Given the description of an element on the screen output the (x, y) to click on. 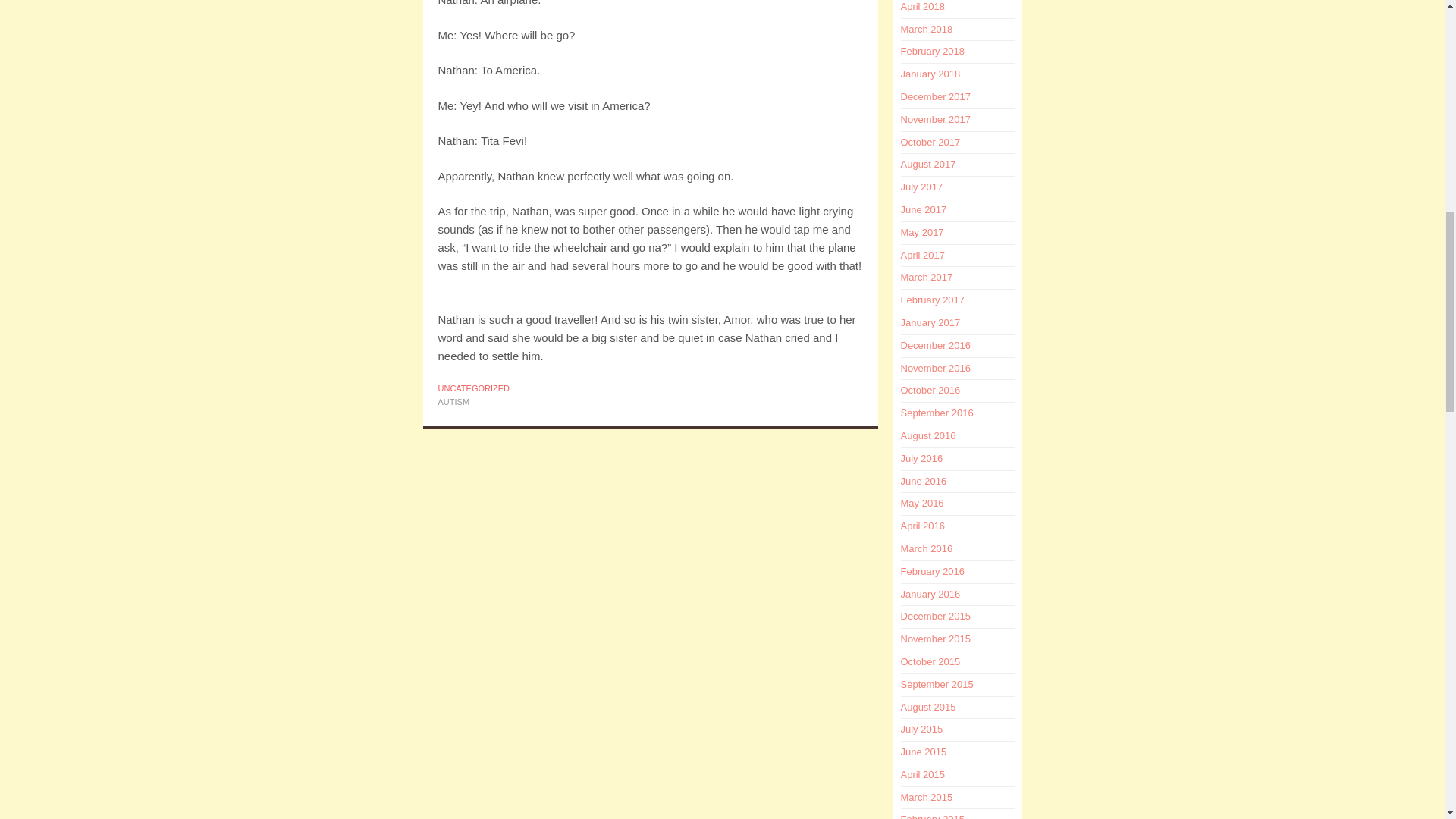
January 2018 (930, 73)
July 2017 (922, 186)
October 2017 (930, 142)
March 2018 (927, 29)
April 2018 (922, 6)
December 2017 (936, 96)
AUTISM (454, 401)
February 2018 (933, 50)
April 2017 (922, 255)
June 2017 (924, 209)
May 2017 (922, 232)
November 2017 (936, 119)
UNCATEGORIZED (474, 388)
August 2017 (928, 163)
